Given the description of an element on the screen output the (x, y) to click on. 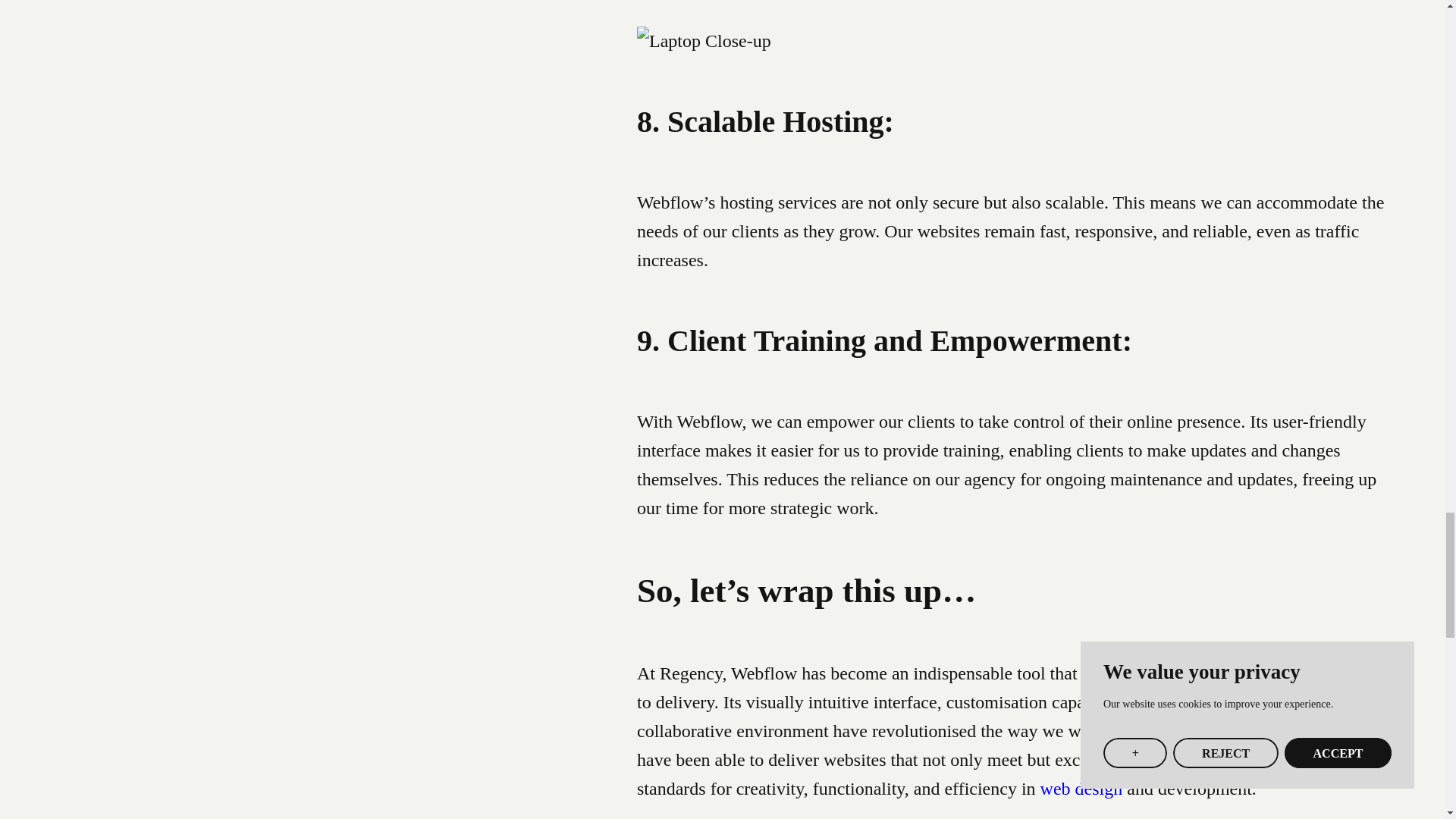
web design (1081, 788)
